Given the description of an element on the screen output the (x, y) to click on. 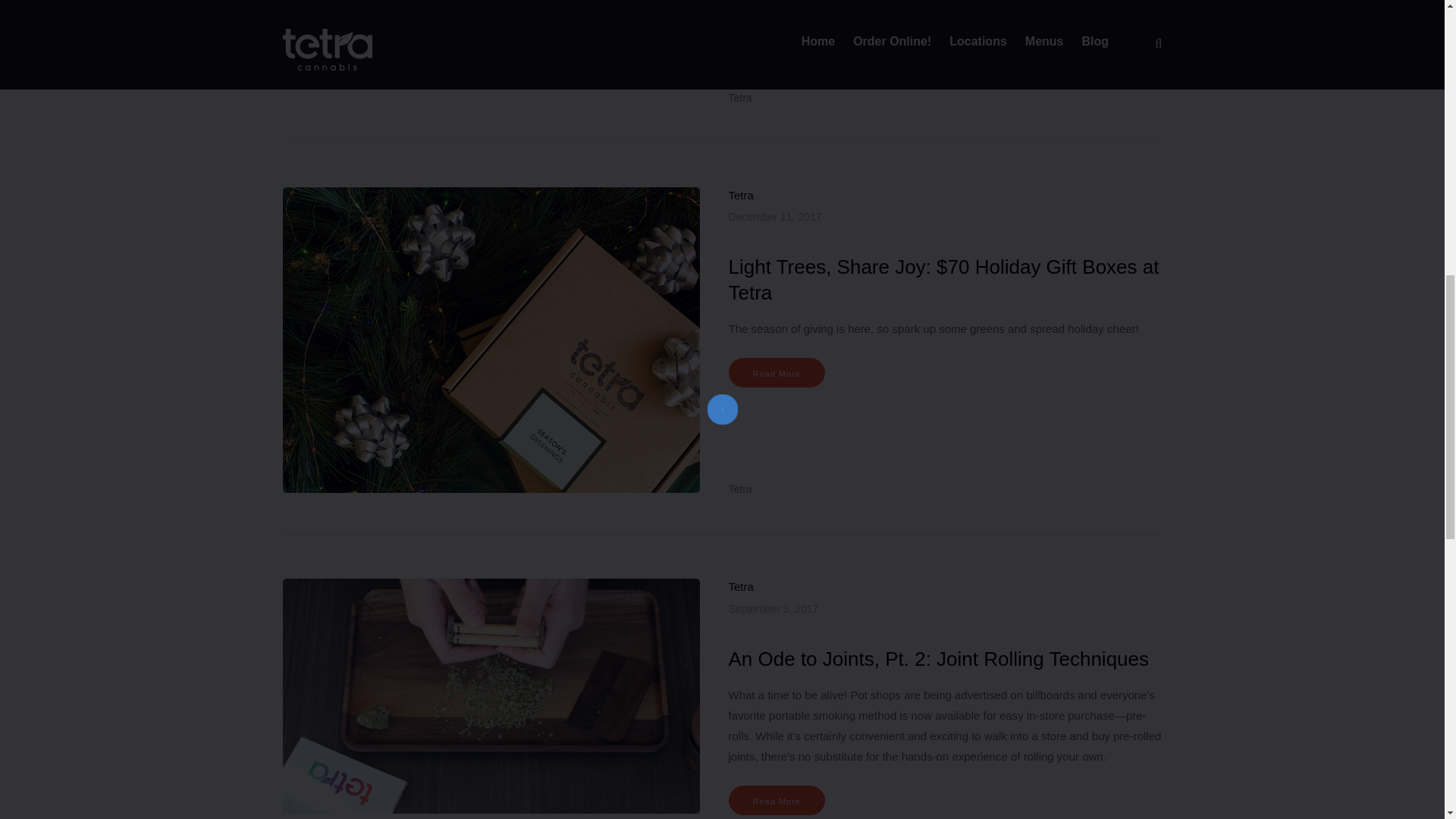
Tetra (739, 489)
Read More (776, 35)
An Ode to Joints, Pt. 2: Joint Rolling Techniques (938, 658)
December 11, 2017 (774, 215)
Posts by Tetra (739, 97)
Read More (776, 372)
Tetra (739, 97)
September 5, 2017 (773, 608)
Tetra (740, 585)
Read More (776, 799)
